Given the description of an element on the screen output the (x, y) to click on. 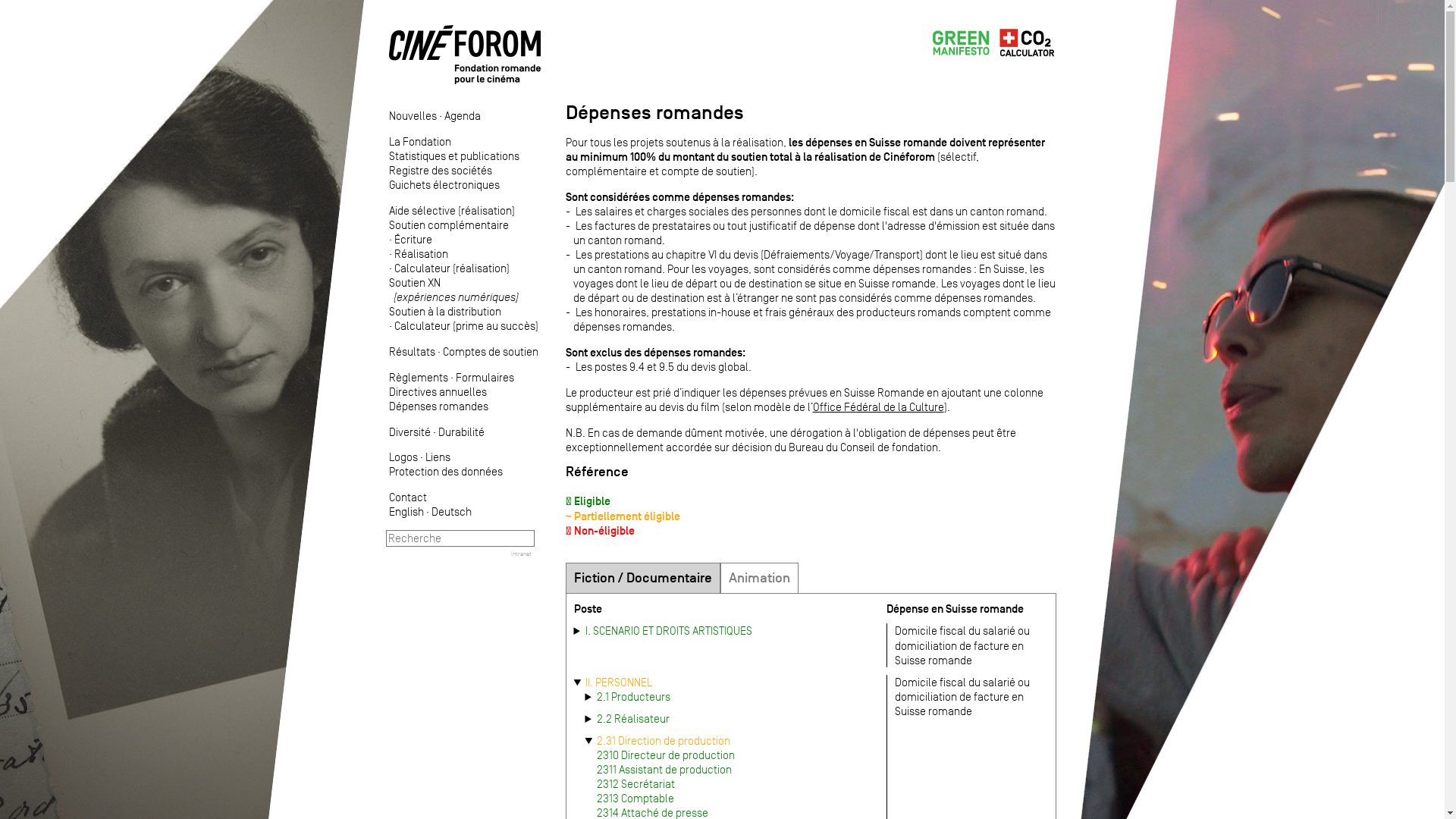
Deutsch Element type: text (450, 511)
Formulaires Element type: text (484, 376)
Liens Element type: text (436, 456)
Logos Element type: text (402, 456)
Intranet Element type: text (521, 553)
La Fondation Element type: text (419, 140)
Contact Element type: text (407, 496)
English Element type: text (405, 511)
Nouvelles Element type: text (412, 115)
Directives annuelles Element type: text (437, 391)
Agenda Element type: text (462, 115)
Comptes de soutien Element type: text (490, 351)
? Element type: text (72, 8)
Statistiques et publications Element type: text (453, 155)
